Given the description of an element on the screen output the (x, y) to click on. 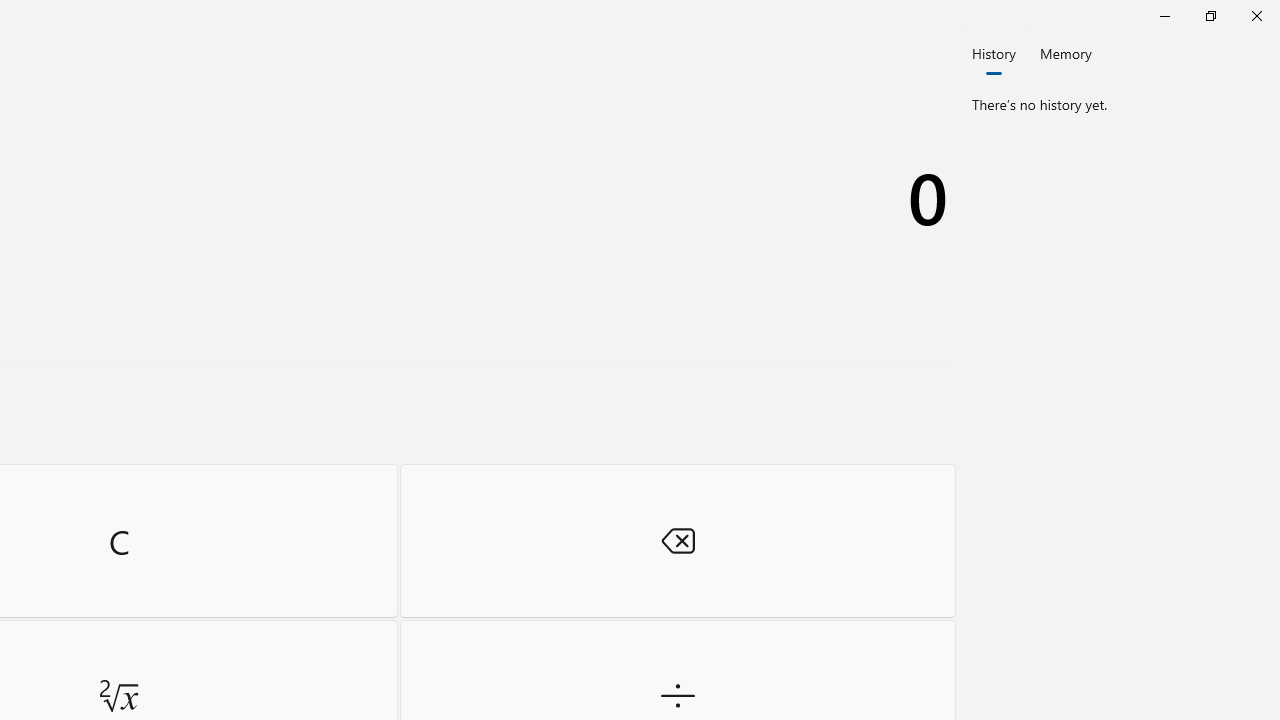
Backspace (677, 540)
Close Calculator (1256, 15)
Minimize Calculator (1164, 15)
Restore Calculator (1210, 15)
